Given the description of an element on the screen output the (x, y) to click on. 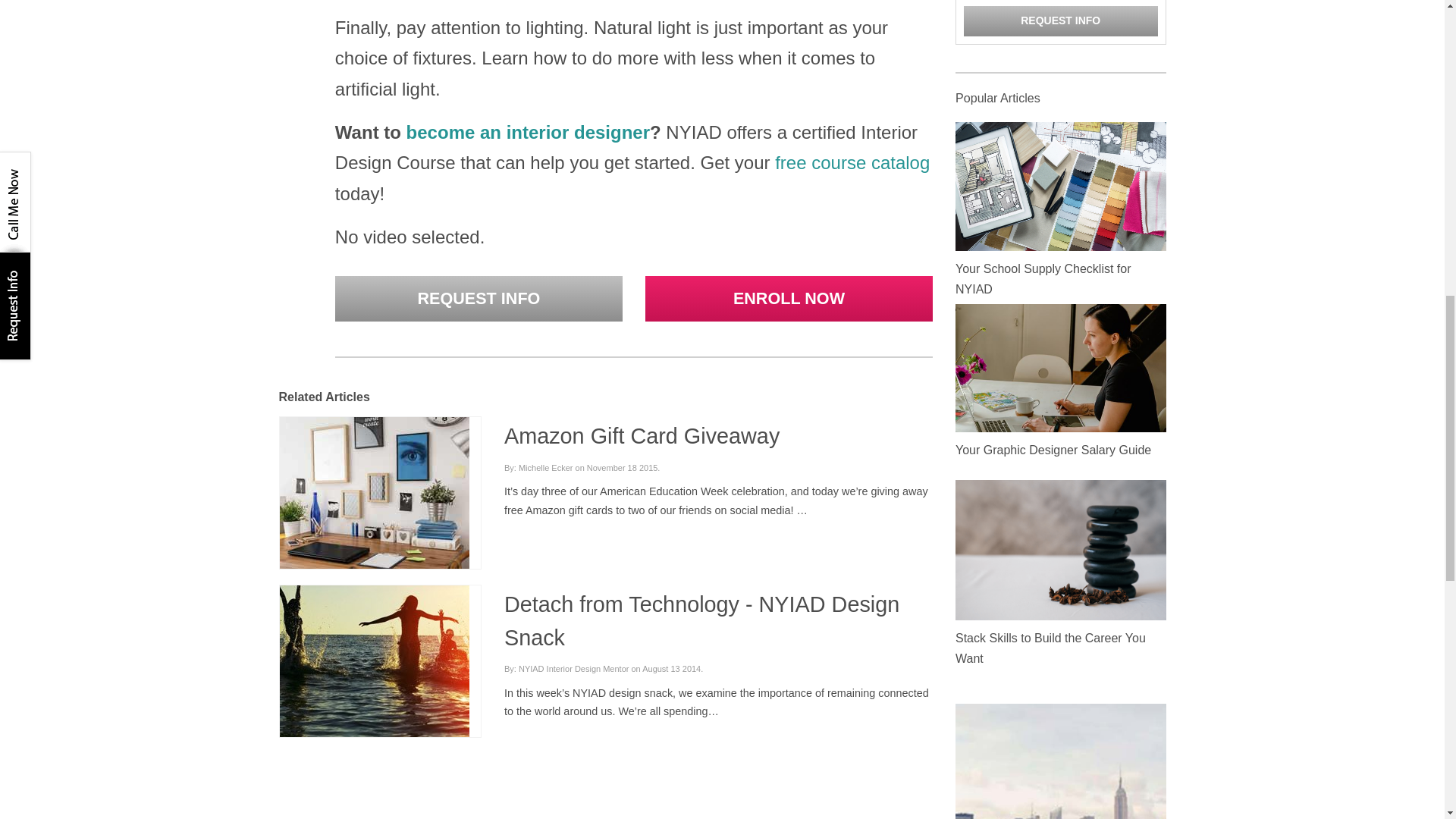
Amazon Gift Card Giveaway (640, 435)
Stack Skills to Build the Career You Want (1050, 648)
Amazon Gift Card Giveaway (373, 491)
Your School Supply Checklist for NYIAD (1043, 278)
Your Graphic Designer Salary Guide  (1060, 367)
Detach from Technology - NYIAD Design Snack (373, 660)
Your Graphic Designer Salary Guide  (1060, 368)
Amazon Gift Card Giveaway (373, 492)
Your Graphic Designer Salary Guide  (1053, 449)
Detach from Technology - NYIAD Design Snack (373, 661)
Your School Supply Checklist for NYIAD (1060, 186)
Your School Supply Checklist for NYIAD (1060, 185)
Round black rocks stacked on top of each other. (1060, 549)
